Given the description of an element on the screen output the (x, y) to click on. 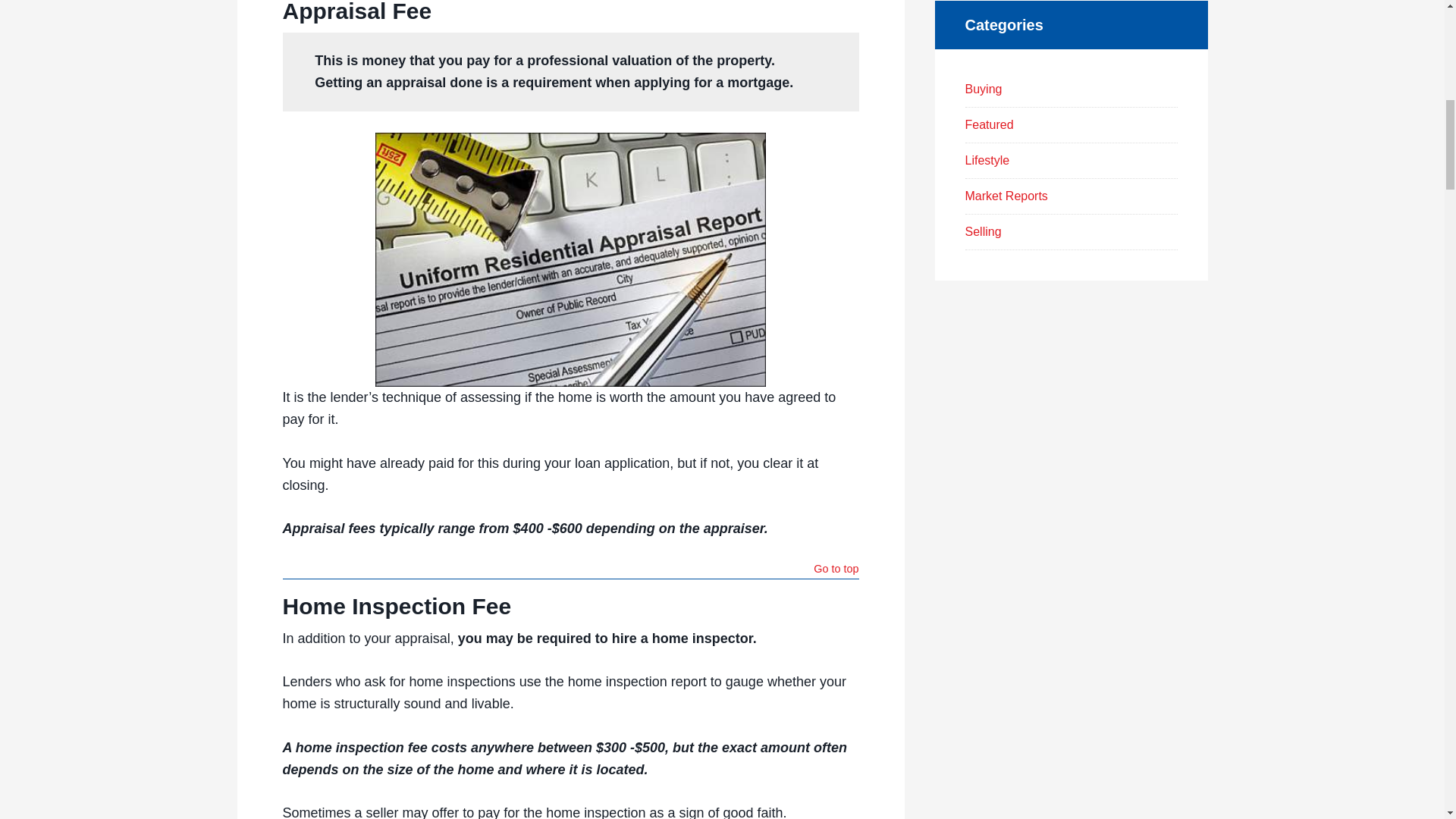
Go to top (836, 570)
